Given the description of an element on the screen output the (x, y) to click on. 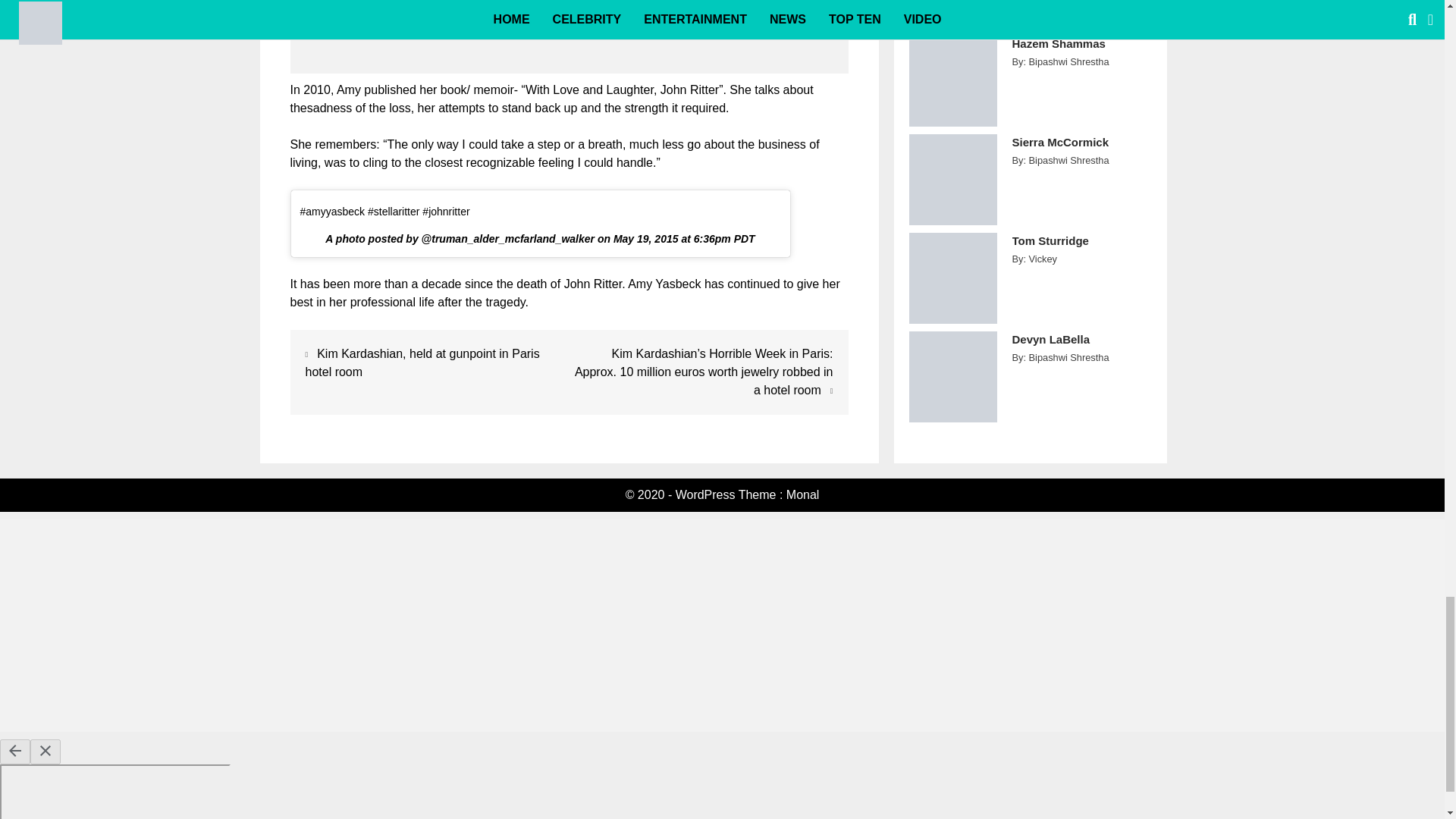
Advertisement (568, 40)
Kim Kardashian, held at gunpoint in Paris hotel room (421, 362)
